Given the description of an element on the screen output the (x, y) to click on. 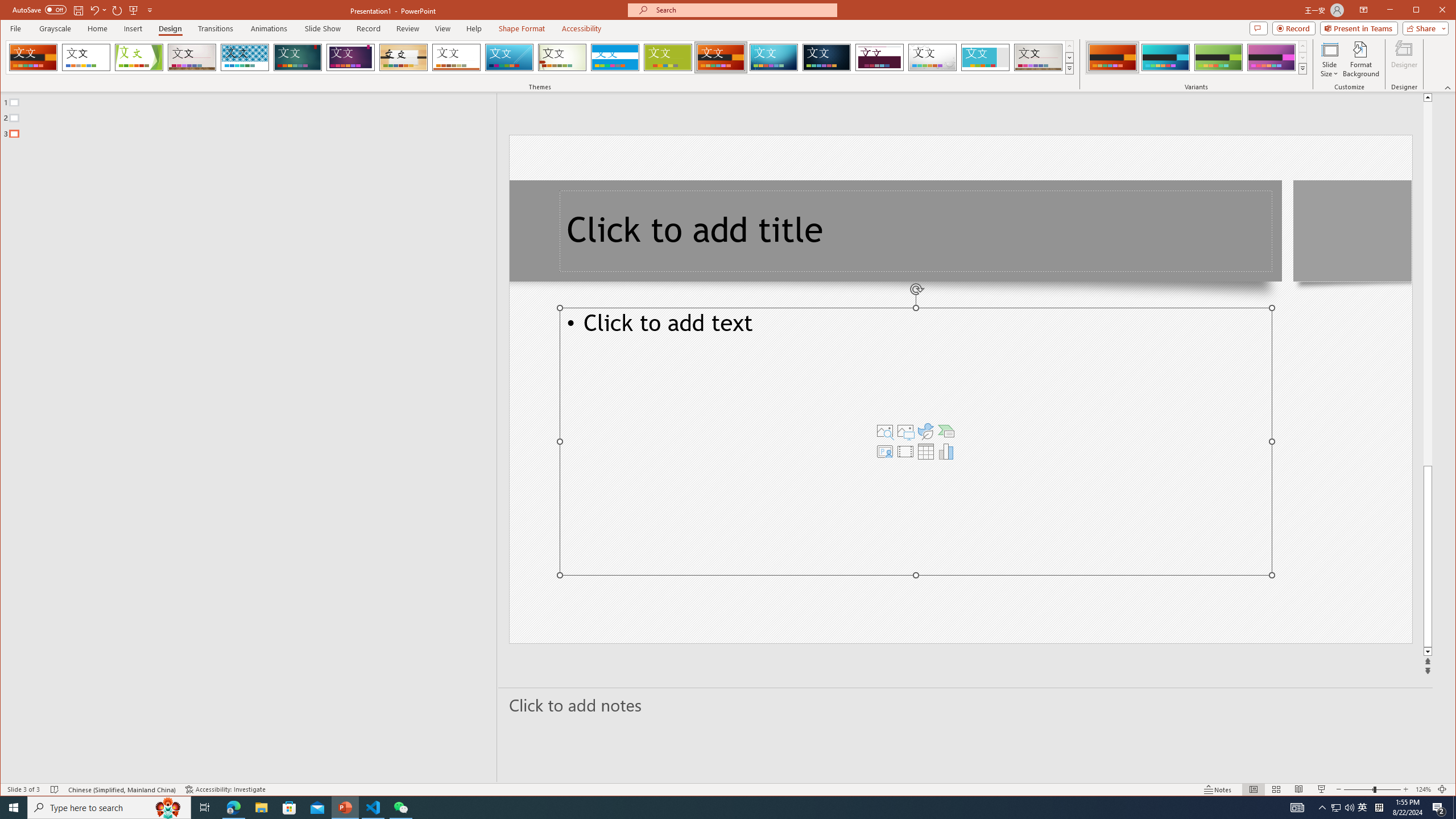
AutomationID: ThemeVariantsGallery (1196, 57)
Circuit (773, 57)
Berlin Variant 2 (1165, 57)
Insert Table (925, 451)
Running applications (707, 807)
Microsoft Edge - 1 running window (233, 807)
